Given the description of an element on the screen output the (x, y) to click on. 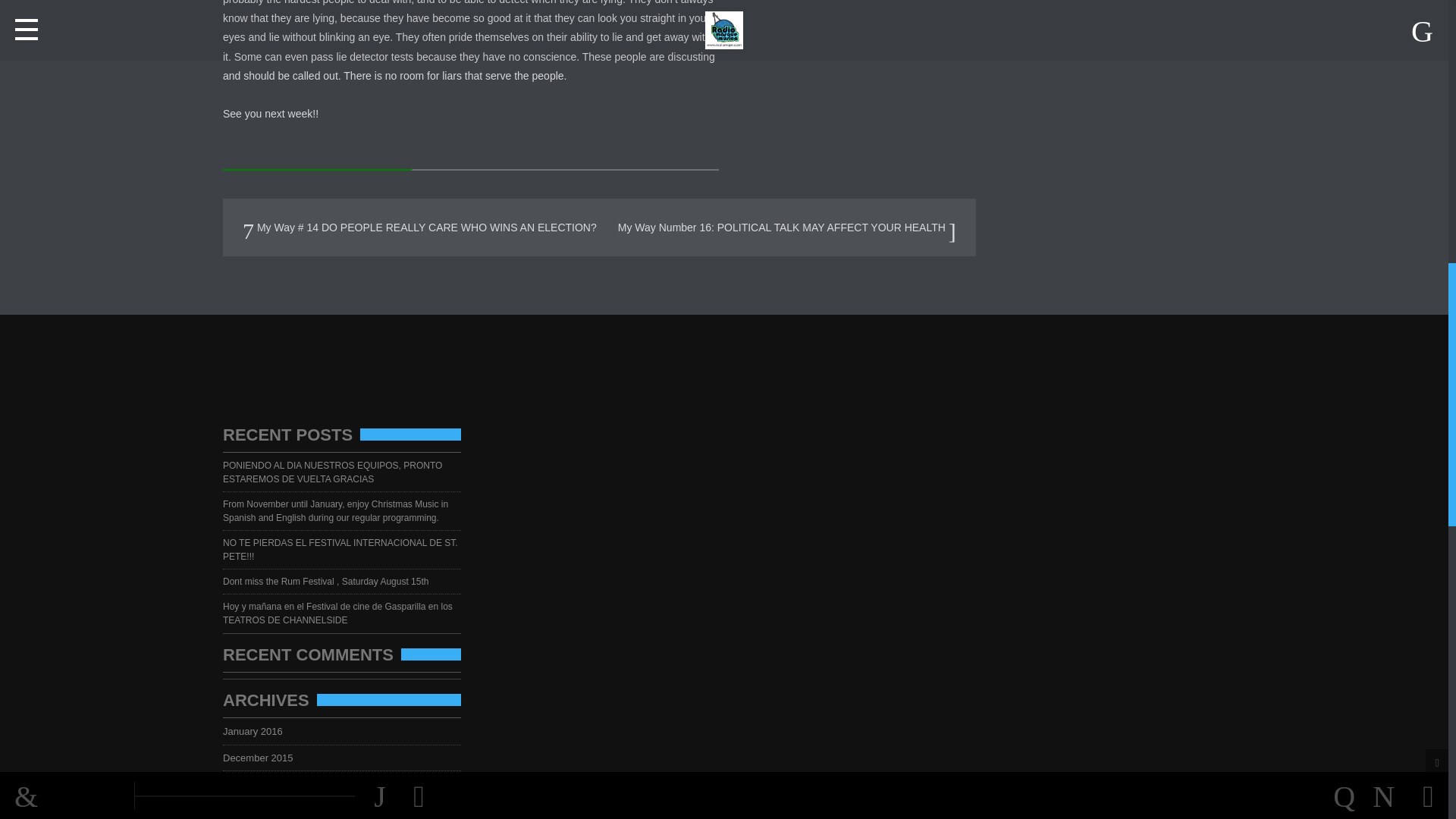
September 2015 (263, 783)
July 2015 (248, 809)
Dont miss the Rum Festival , Saturday August 15th (330, 581)
January 2016 (257, 731)
December 2015 (262, 757)
My Way Number 16: POLITICAL TALK MAY AFFECT YOUR HEALTH (786, 227)
NO TE PIERDAS EL FESTIVAL INTERNACIONAL DE ST. PETE!!! (340, 549)
